Given the description of an element on the screen output the (x, y) to click on. 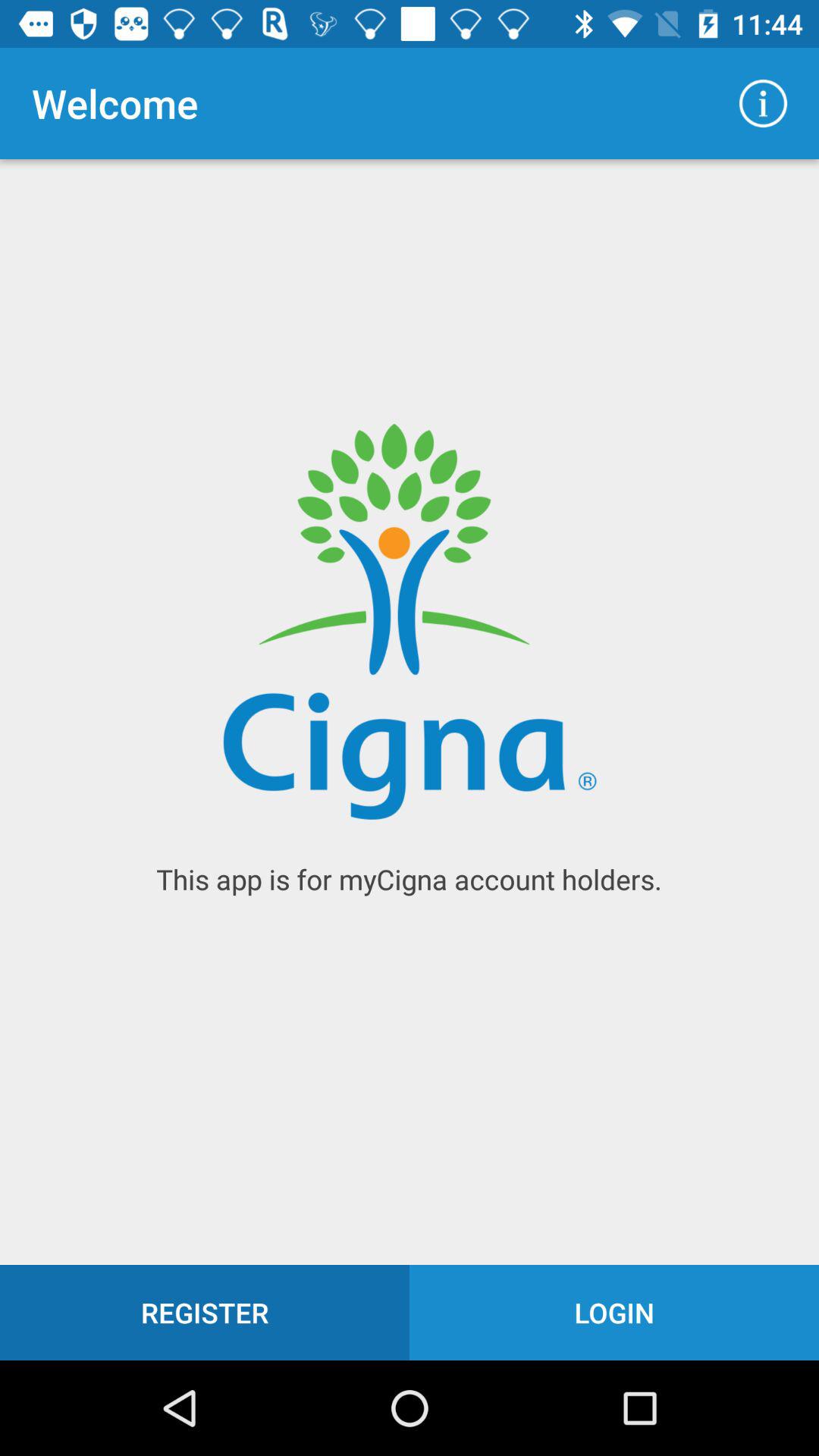
choose icon to the right of welcome (763, 103)
